Given the description of an element on the screen output the (x, y) to click on. 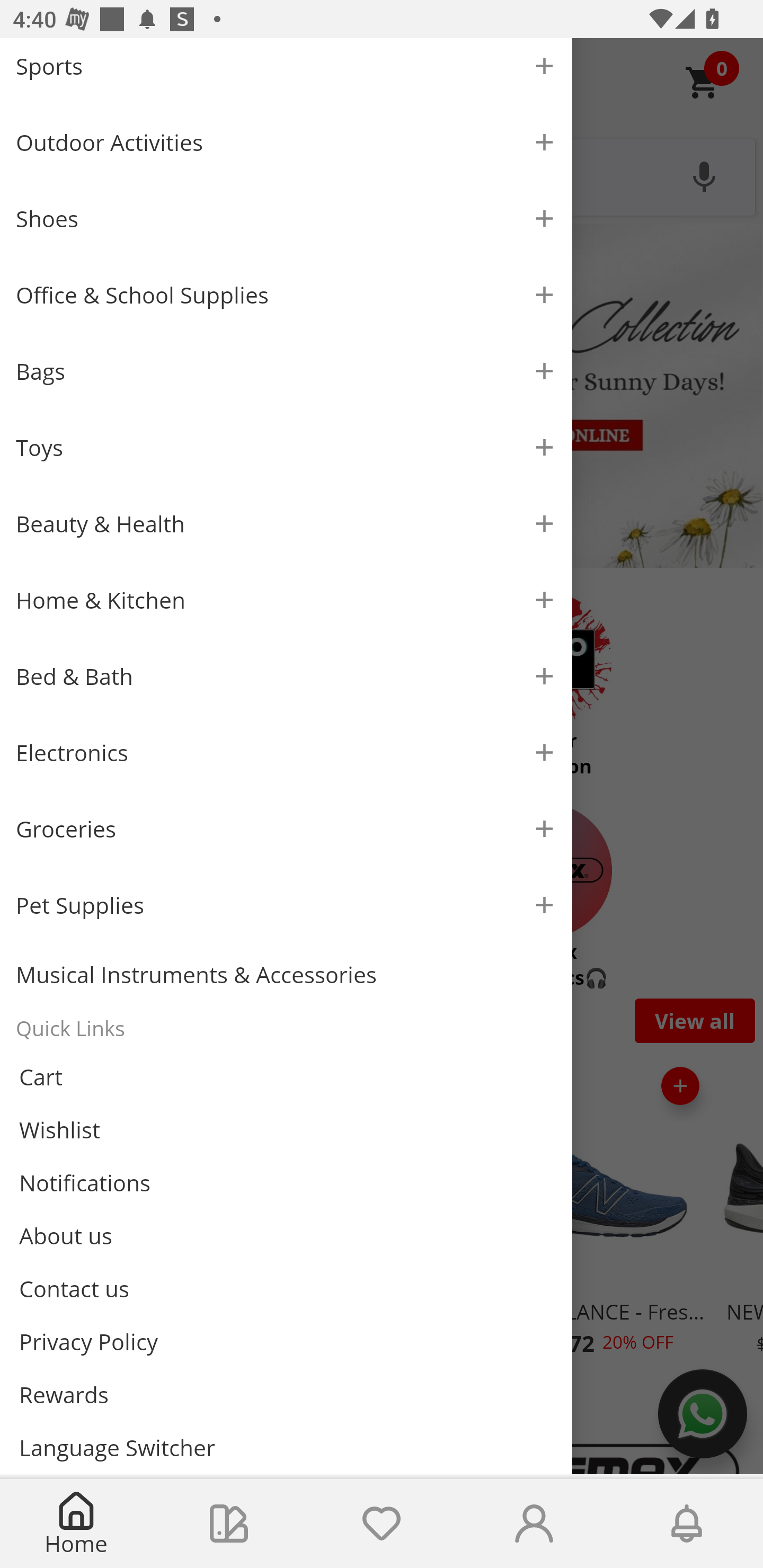
Sports (286, 71)
Outdoor Activities (286, 142)
Shoes (286, 218)
Office & School Supplies (286, 294)
Bags (286, 370)
Toys (286, 447)
Beauty & Health (286, 523)
Home & Kitchen (286, 599)
Bed & Bath (286, 676)
Electronics (286, 752)
Groceries (286, 828)
Pet Supplies (286, 905)
Musical Instruments & Accessories (286, 974)
View all (694, 1020)
Cart (286, 1076)
Wishlist (286, 1130)
Notifications (286, 1182)
About us (286, 1235)
Contact us (286, 1288)
Privacy Policy (286, 1341)
Rewards (286, 1394)
Language Switcher (286, 1446)
Collections (228, 1523)
Wishlist (381, 1523)
Account (533, 1523)
Notifications (686, 1523)
